Given the description of an element on the screen output the (x, y) to click on. 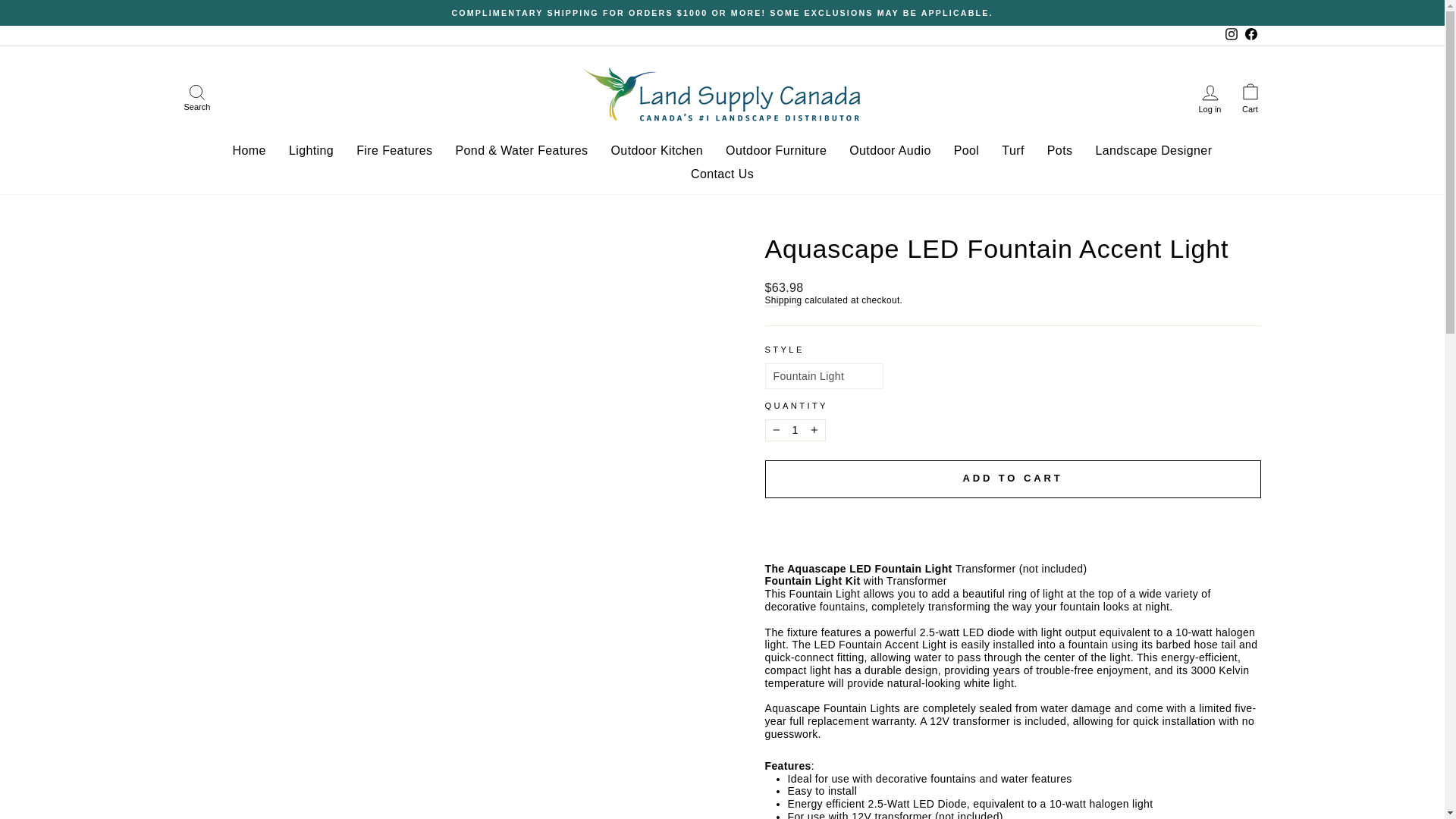
Land Supply Canada on Instagram (1230, 35)
1 (794, 430)
Land Supply Canada on Facebook (1250, 35)
